Given the description of an element on the screen output the (x, y) to click on. 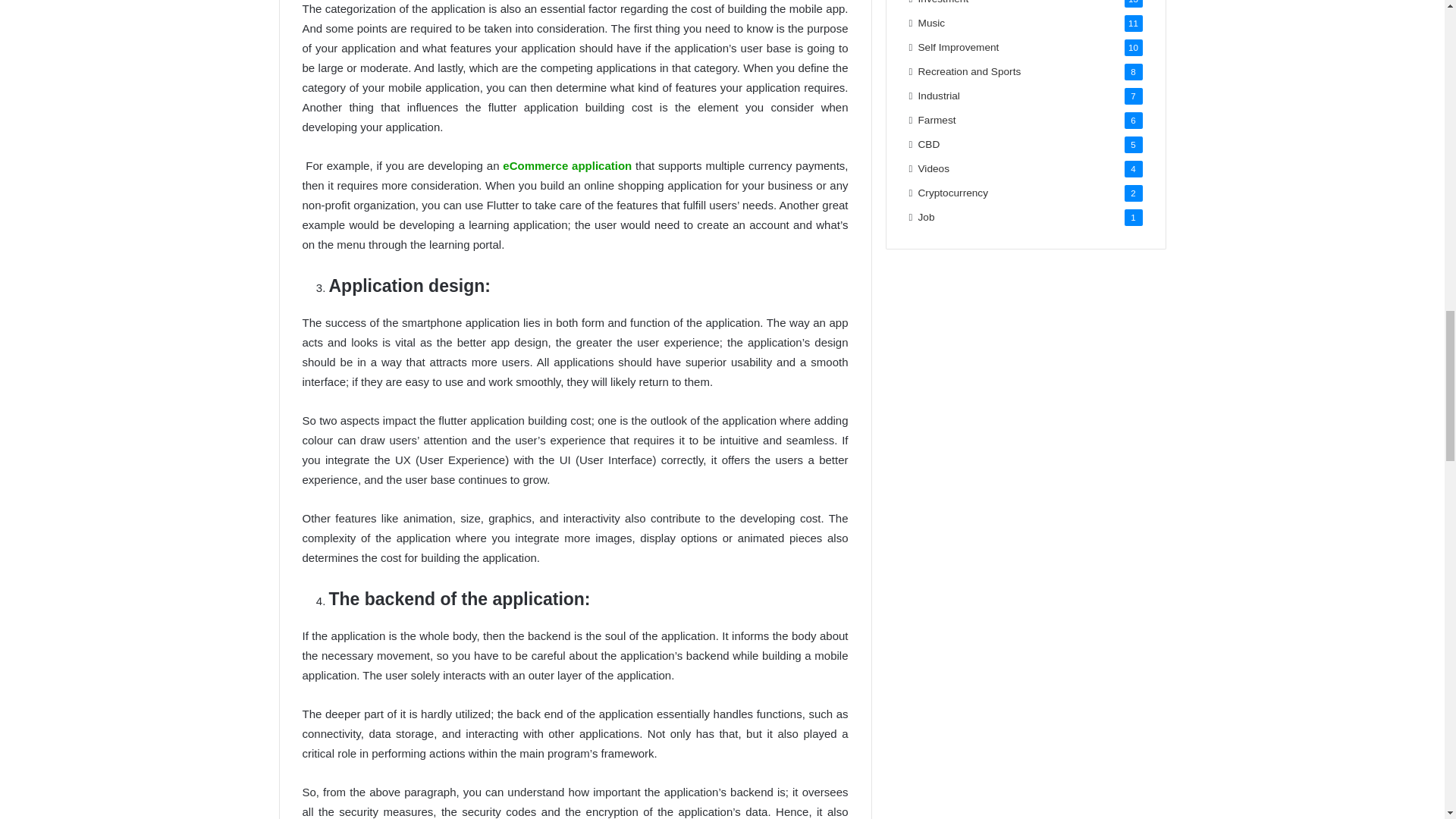
eCommerce application (566, 164)
